Given the description of an element on the screen output the (x, y) to click on. 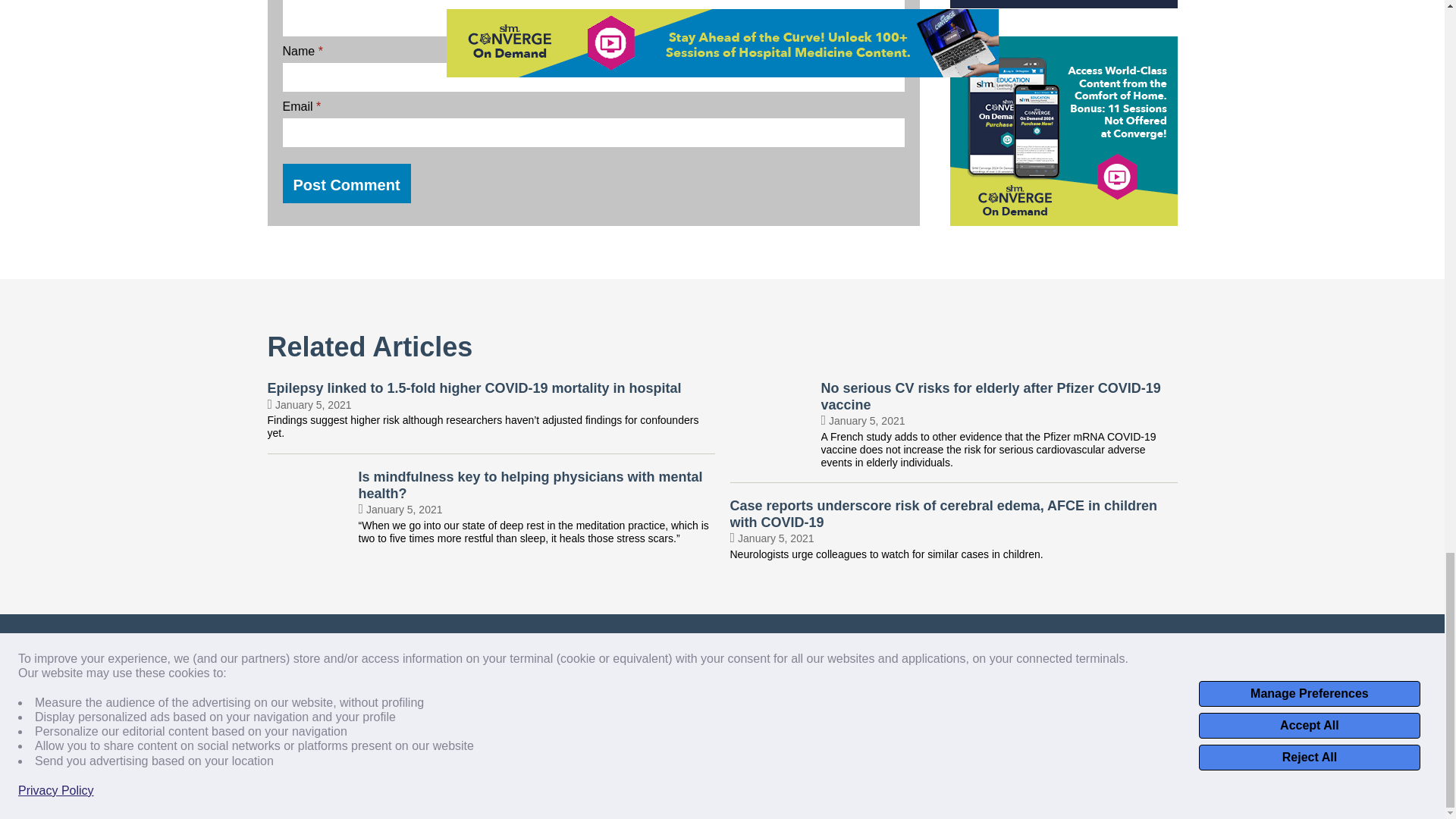
Post Comment (346, 183)
